Given the description of an element on the screen output the (x, y) to click on. 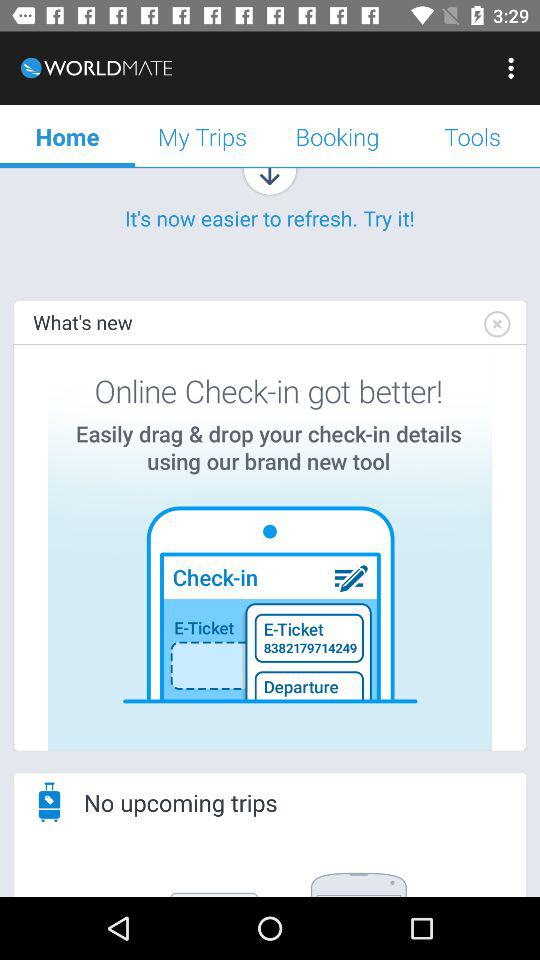
tap the item next to booking (472, 136)
